Given the description of an element on the screen output the (x, y) to click on. 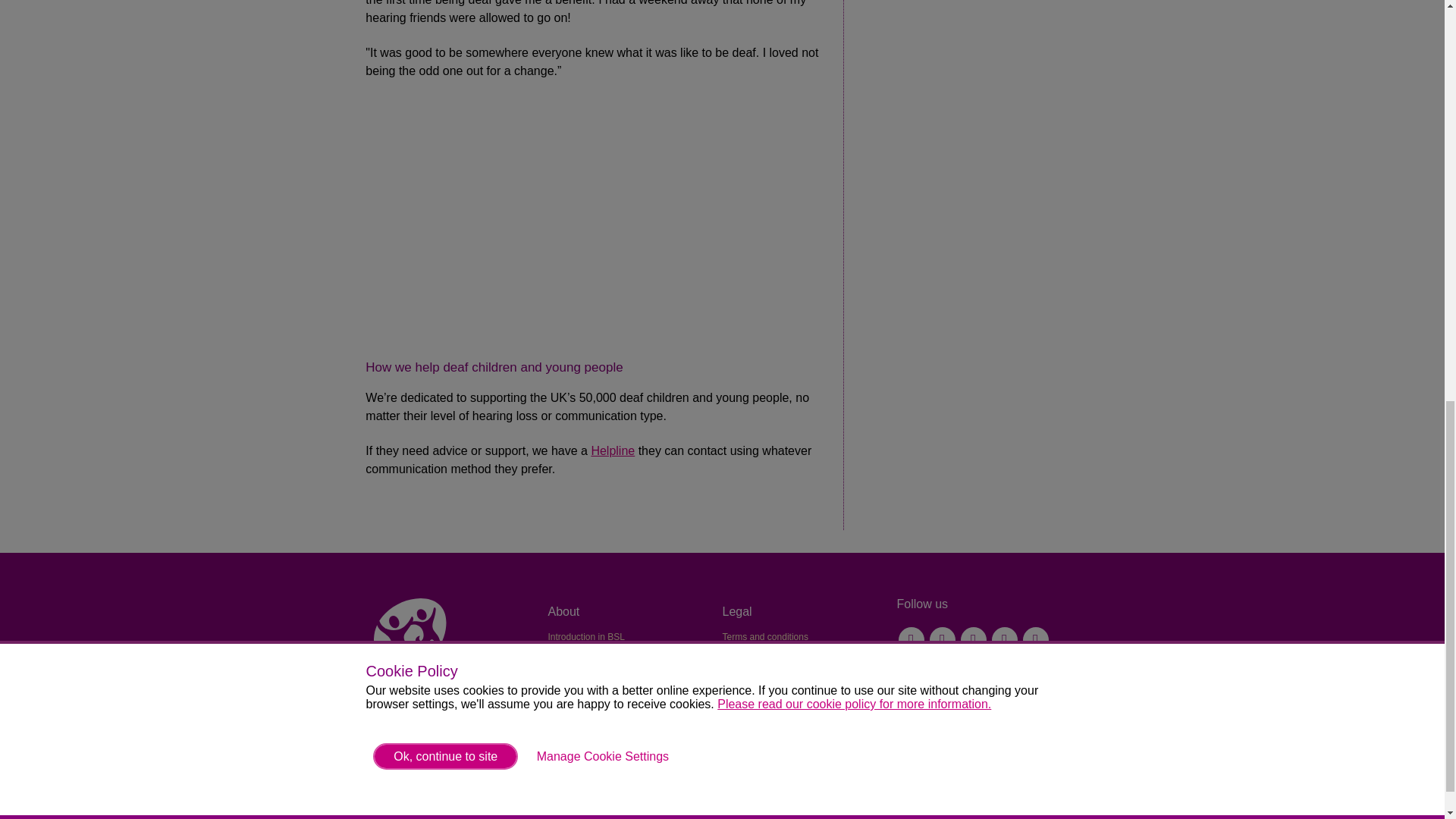
Helpline (612, 450)
